Given the description of an element on the screen output the (x, y) to click on. 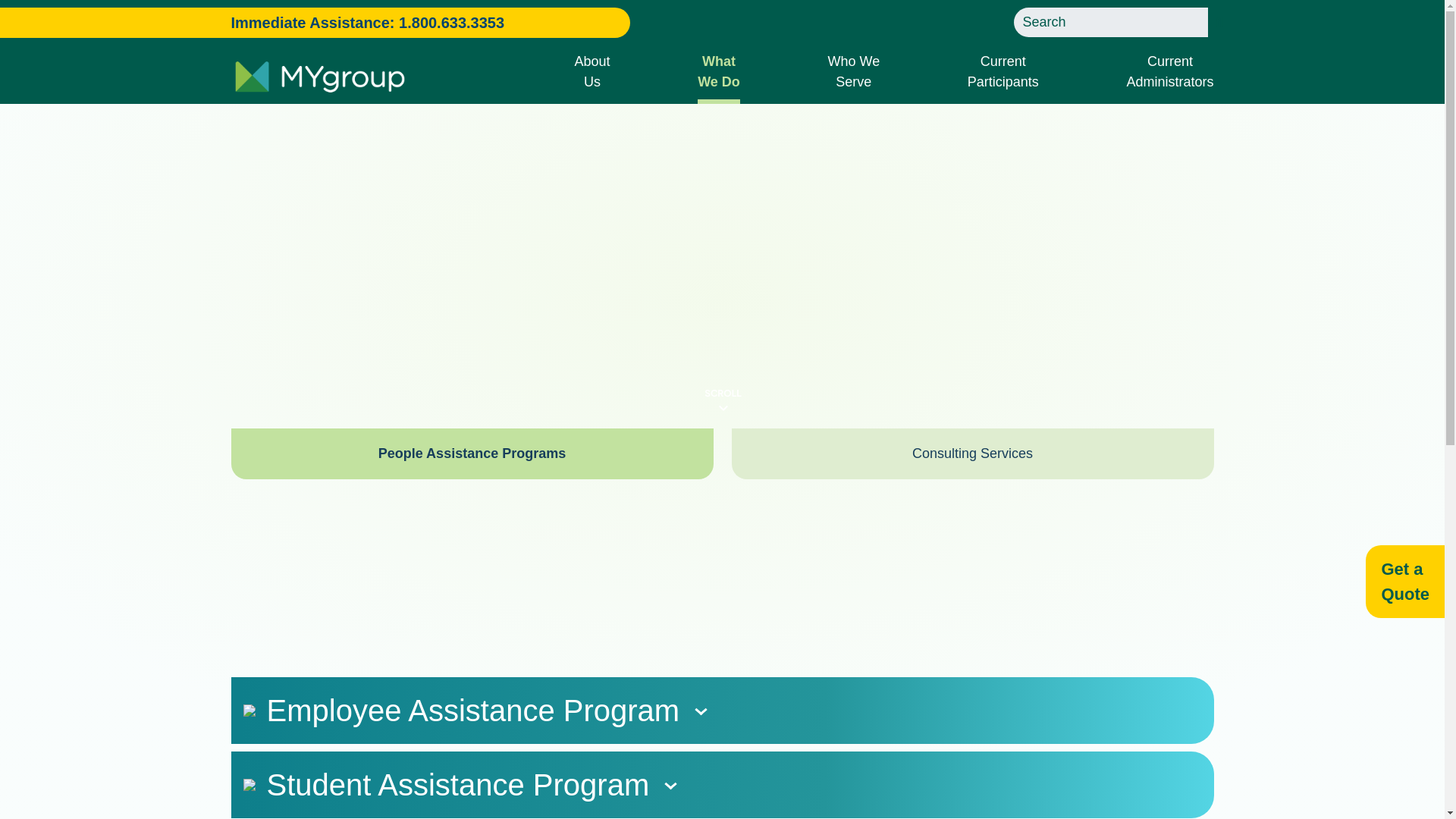
People Assistance Programs (1003, 74)
Consulting Services (1168, 74)
